Given the description of an element on the screen output the (x, y) to click on. 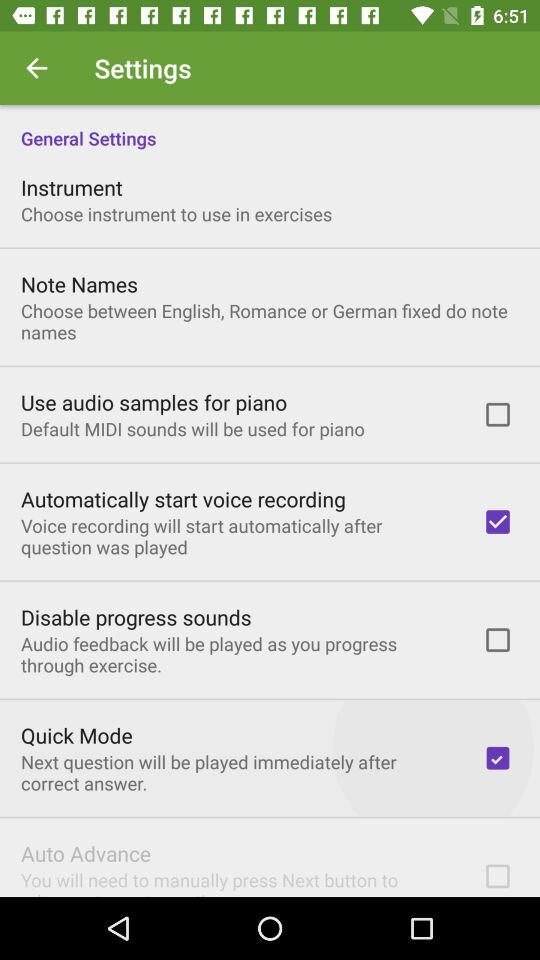
press item above the general settings icon (36, 68)
